Given the description of an element on the screen output the (x, y) to click on. 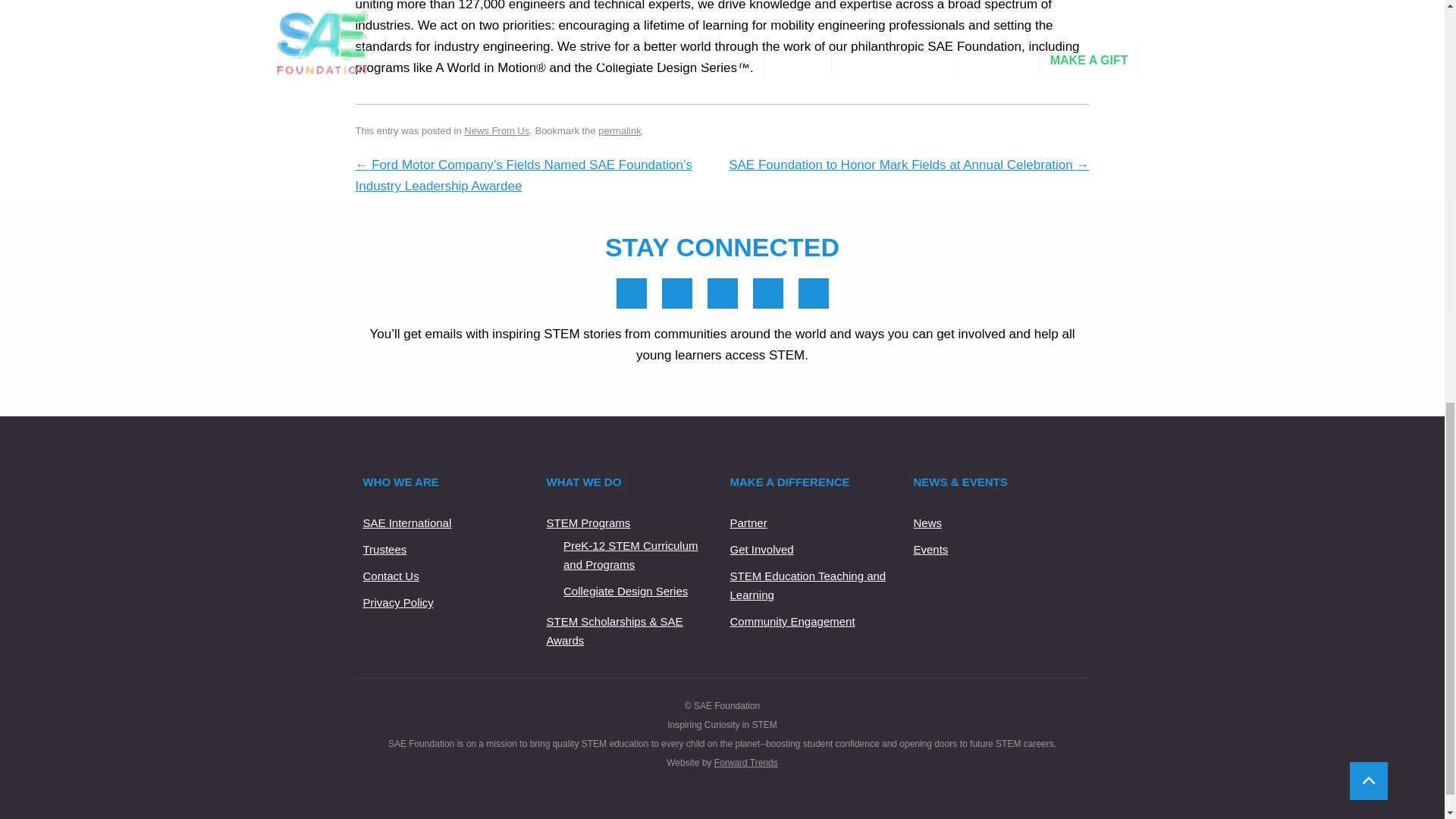
YouTube (767, 293)
LinkedIn (676, 293)
permalink (619, 130)
Facebook (631, 293)
YouTube (767, 293)
LinkedIn (676, 293)
Twitter (721, 293)
Facebook (630, 293)
Email Us (813, 293)
News From Us (496, 130)
